Given the description of an element on the screen output the (x, y) to click on. 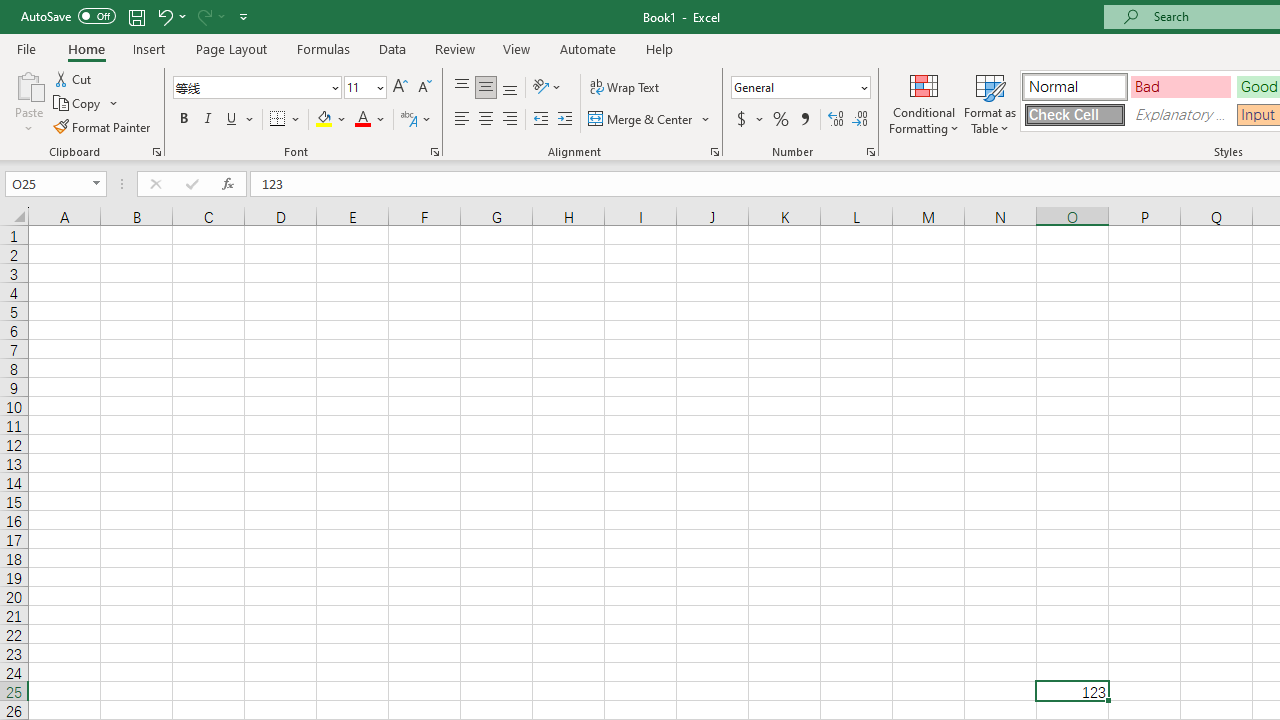
Show Phonetic Field (408, 119)
Quick Access Toolbar (136, 16)
Bottom Align (509, 87)
Font Color RGB(255, 0, 0) (362, 119)
Orientation (547, 87)
Automate (588, 48)
Cut (73, 78)
Font (250, 87)
Fill Color RGB(255, 255, 0) (324, 119)
Insert (149, 48)
